Given the description of an element on the screen output the (x, y) to click on. 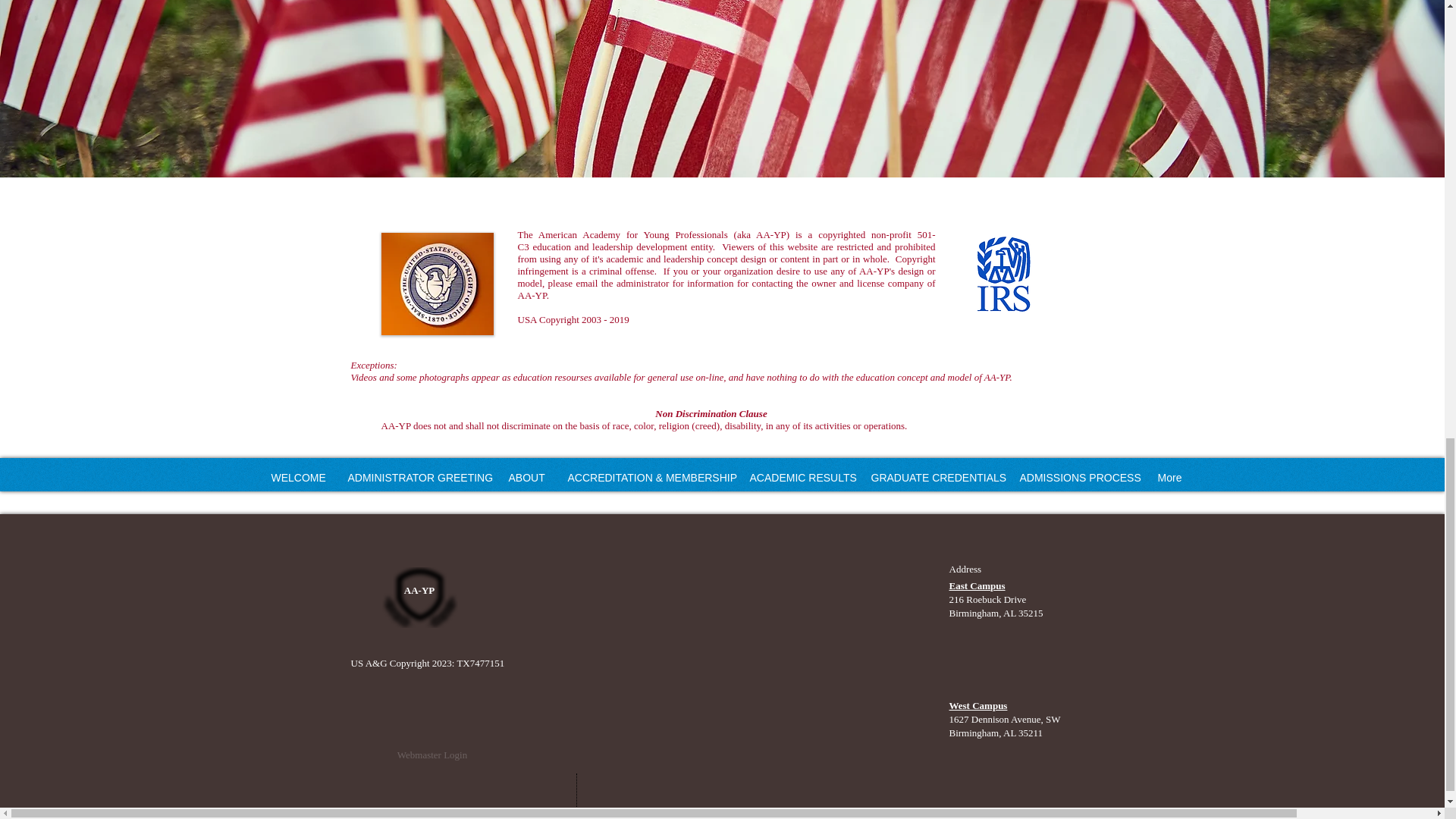
WELCOME (297, 477)
ABOUT (526, 477)
ACADEMIC RESULTS (799, 477)
ADMISSIONS PROCESS (1076, 477)
GRADUATE CREDENTIALS (934, 477)
ADMINISTRATOR GREETING (416, 477)
images.png (1001, 274)
